Given the description of an element on the screen output the (x, y) to click on. 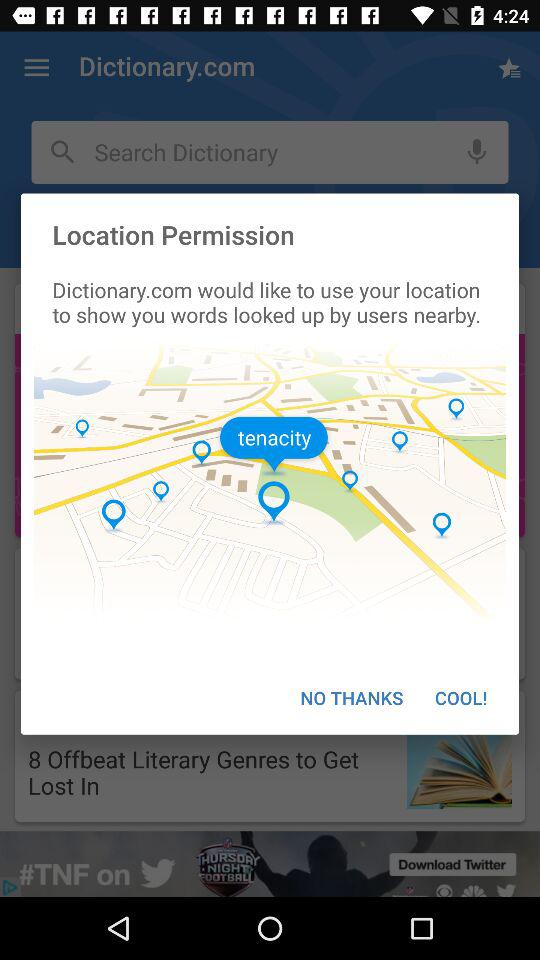
turn on the no thanks at the bottom (351, 697)
